Given the description of an element on the screen output the (x, y) to click on. 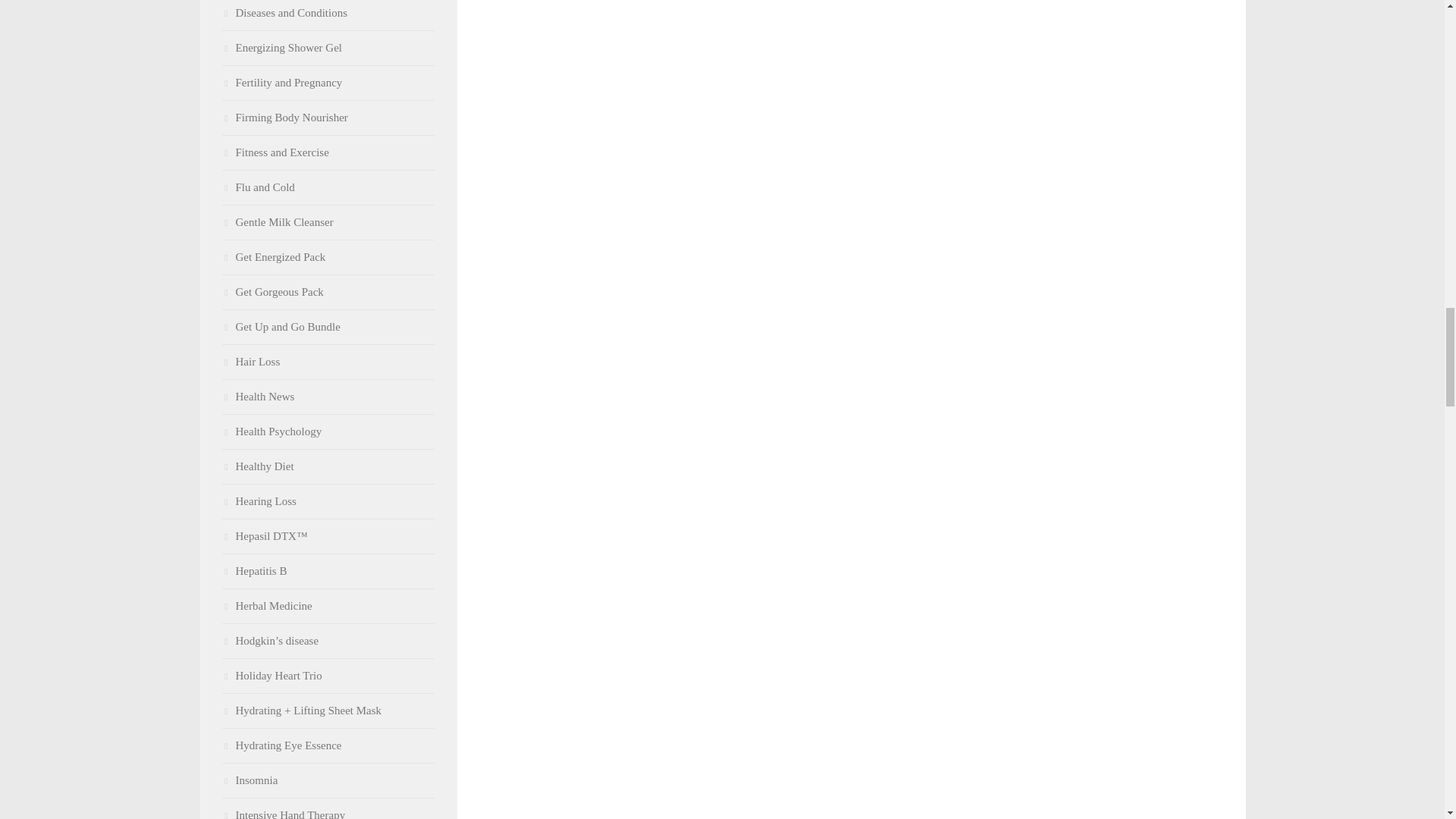
Insomnia (249, 779)
